Given the description of an element on the screen output the (x, y) to click on. 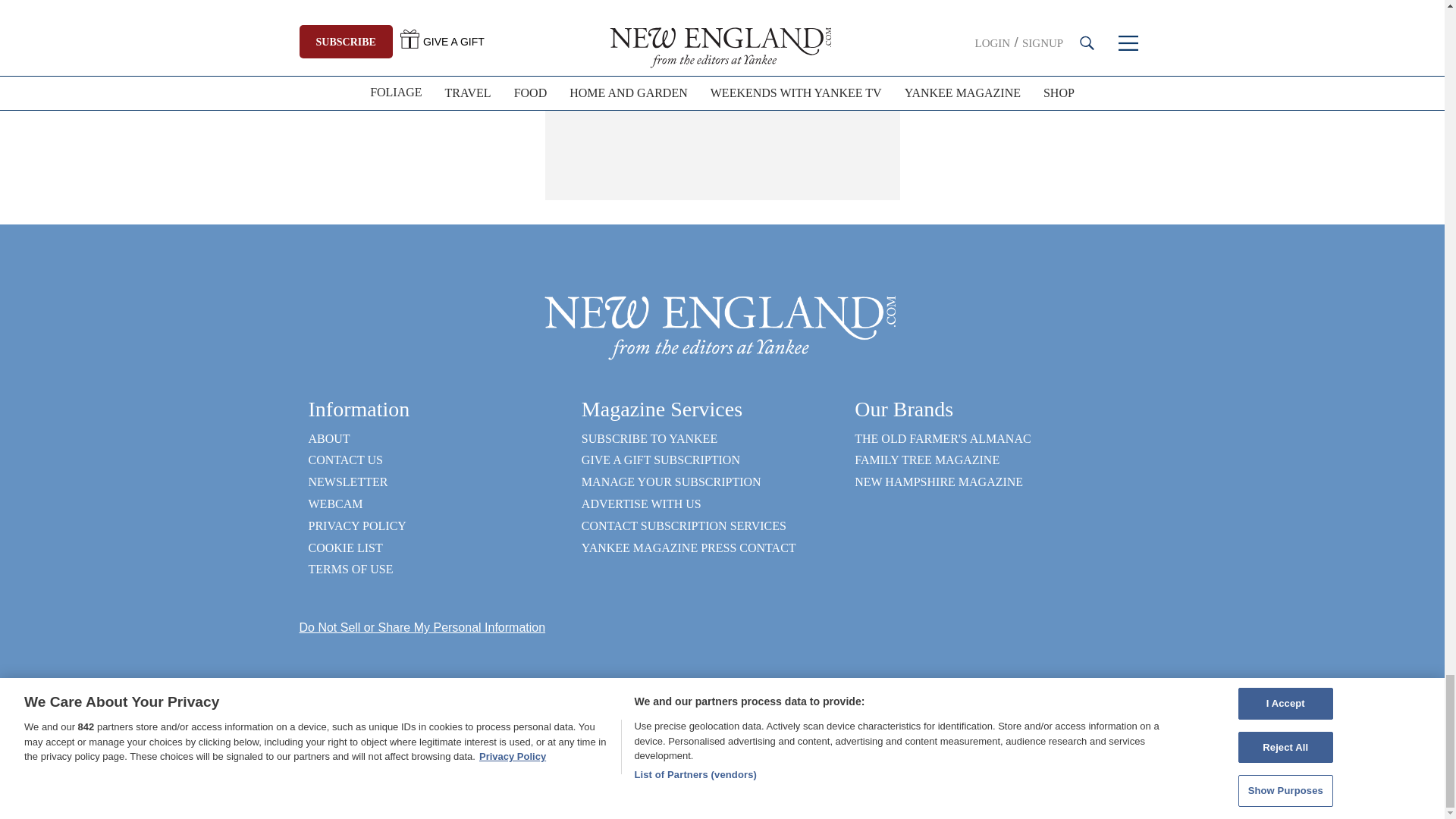
new-england-logo-footer-white (721, 325)
